Given the description of an element on the screen output the (x, y) to click on. 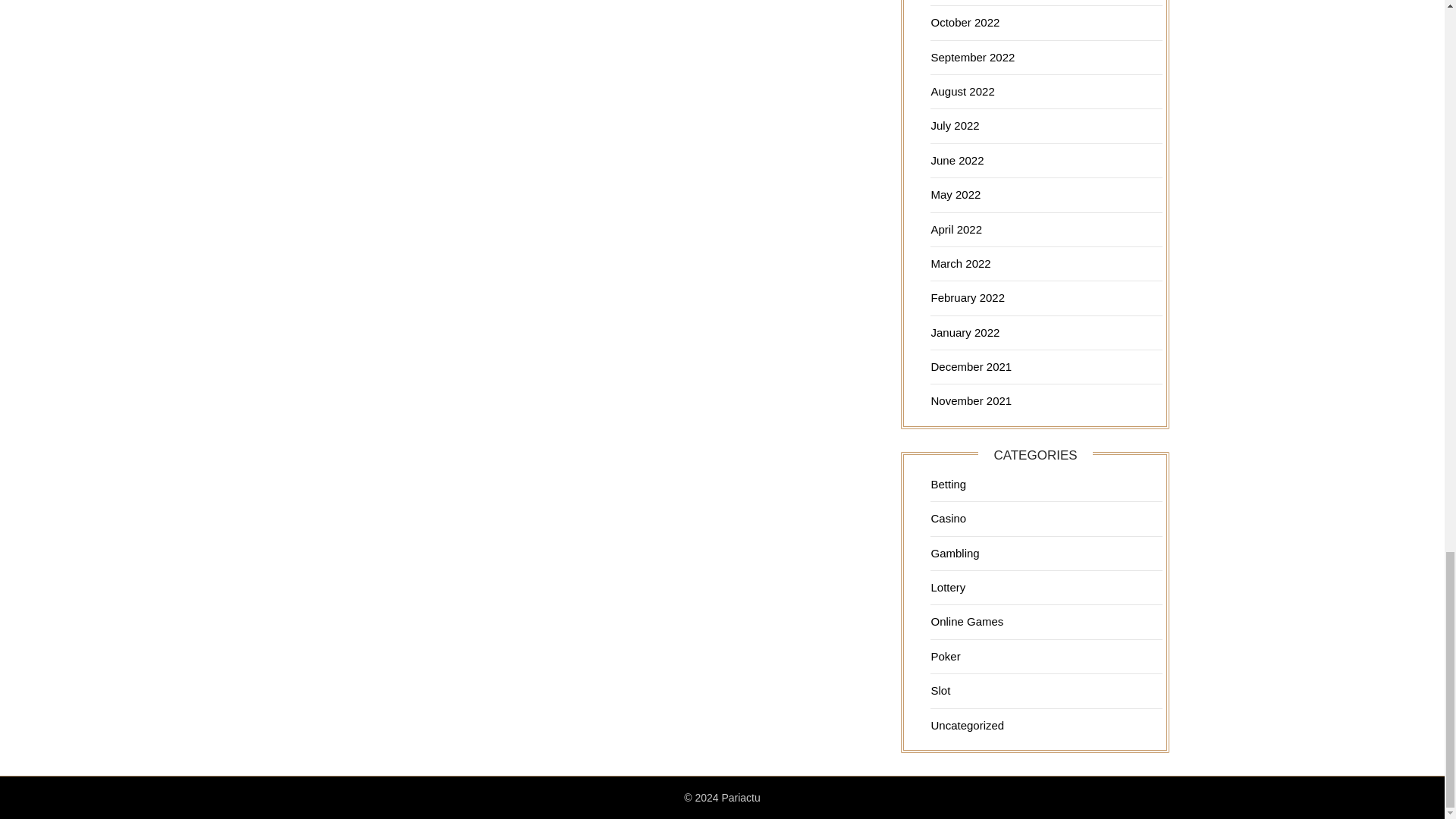
August 2022 (962, 91)
July 2022 (954, 124)
September 2022 (972, 56)
October 2022 (964, 21)
